Given the description of an element on the screen output the (x, y) to click on. 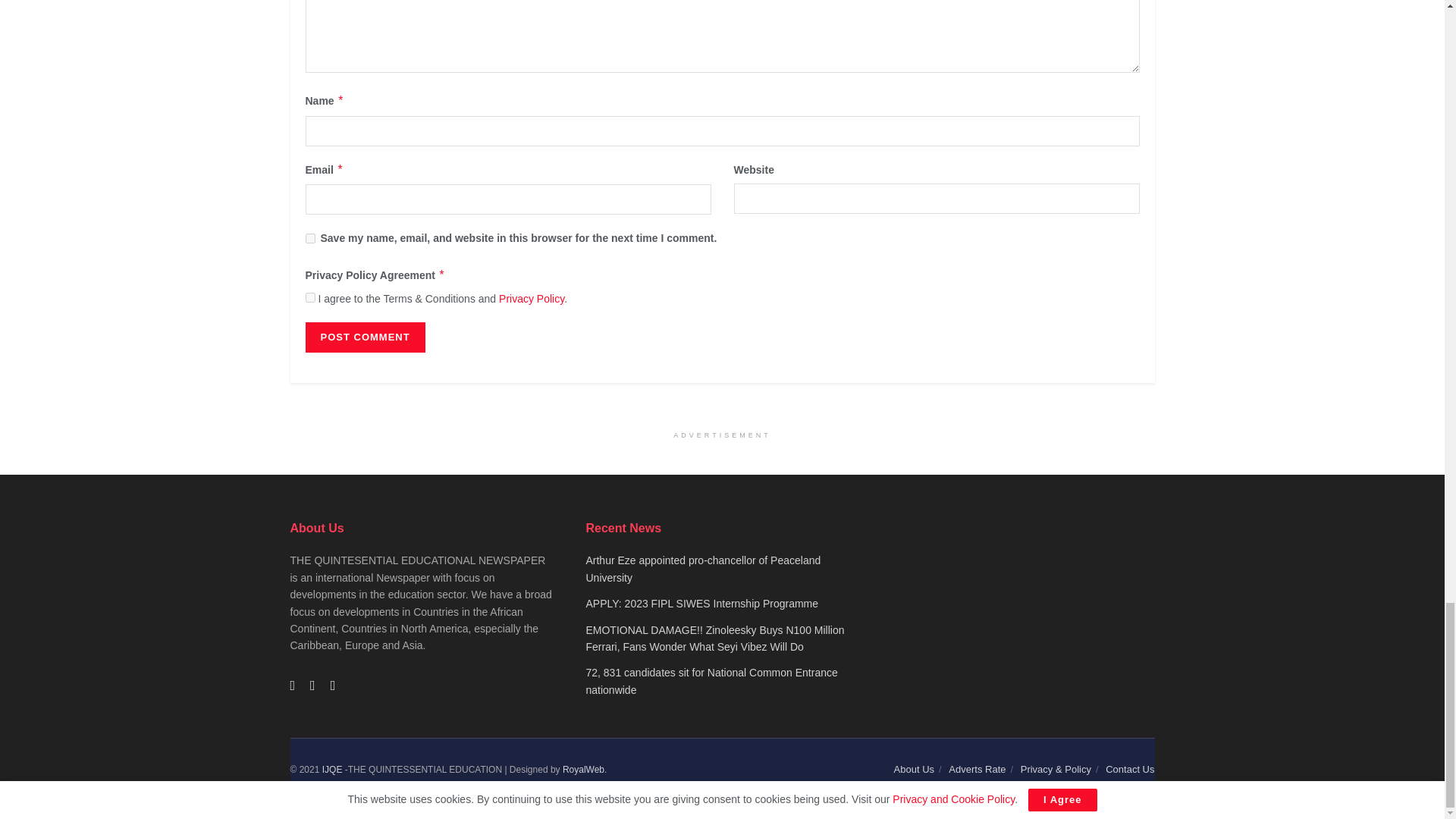
RoyalWeb (583, 769)
yes (309, 238)
on (309, 297)
Post Comment (364, 337)
THE QUINTESSENTIAL EDUCATION (331, 769)
